Given the description of an element on the screen output the (x, y) to click on. 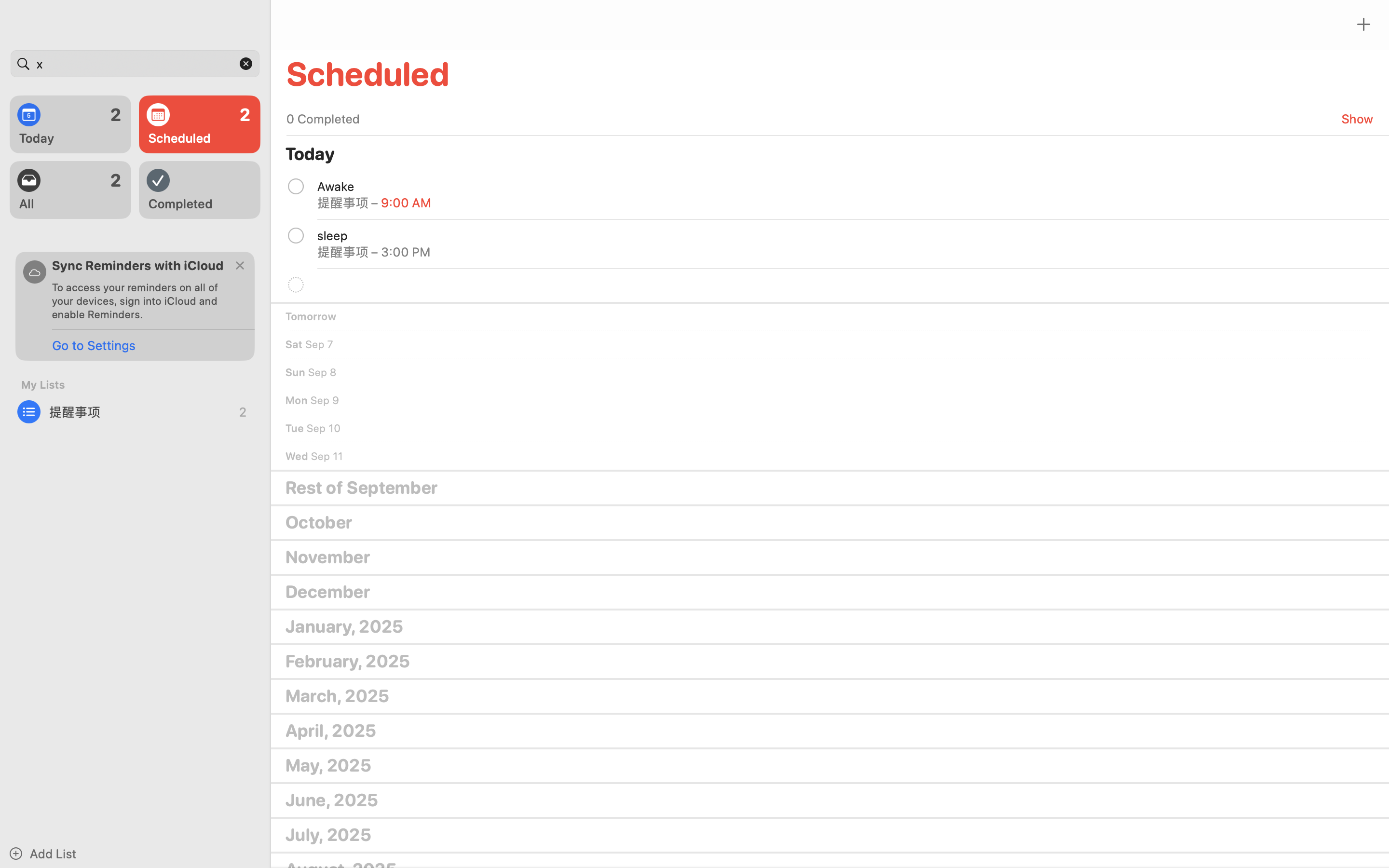
提醒事项 – 9:00 AM Element type: AXStaticText (374, 202)
提醒事项 – 3:00 PM Element type: AXStaticText (374, 251)
Sync Reminders with iCloud Element type: AXStaticText (137, 264)
提醒事项 Element type: AXTextField (135, 411)
